Given the description of an element on the screen output the (x, y) to click on. 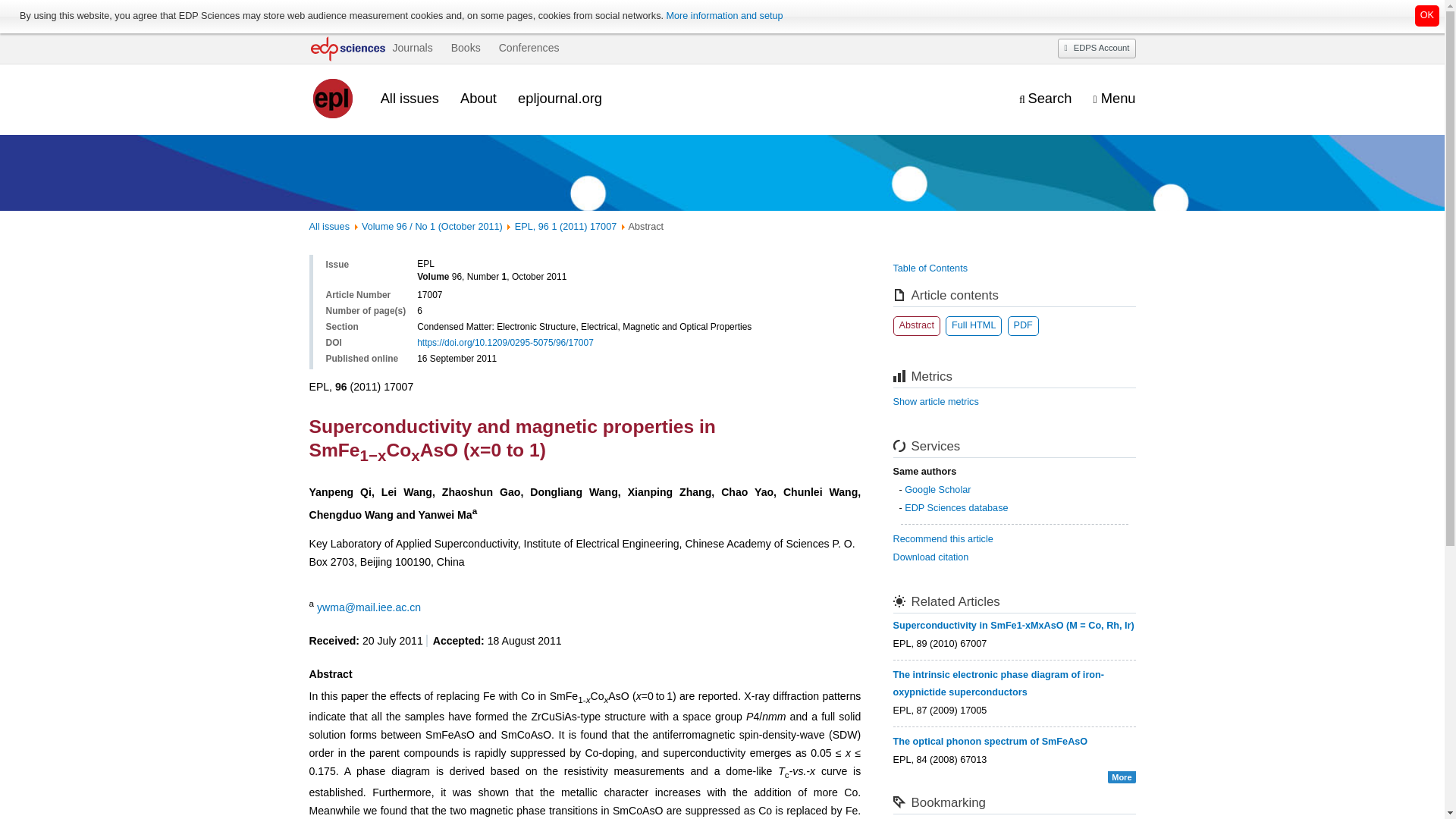
More information and setup (724, 15)
Click to close this notification (1427, 15)
Books (465, 47)
Display the search engine (1045, 98)
Conferences (529, 47)
epljournal.org (560, 98)
All issues (328, 226)
All issues (409, 98)
PDF (1022, 325)
OK (1427, 15)
Abstract (916, 325)
Journals (411, 47)
Journal homepage (333, 99)
Full HTML (972, 325)
Menu (1114, 98)
